Given the description of an element on the screen output the (x, y) to click on. 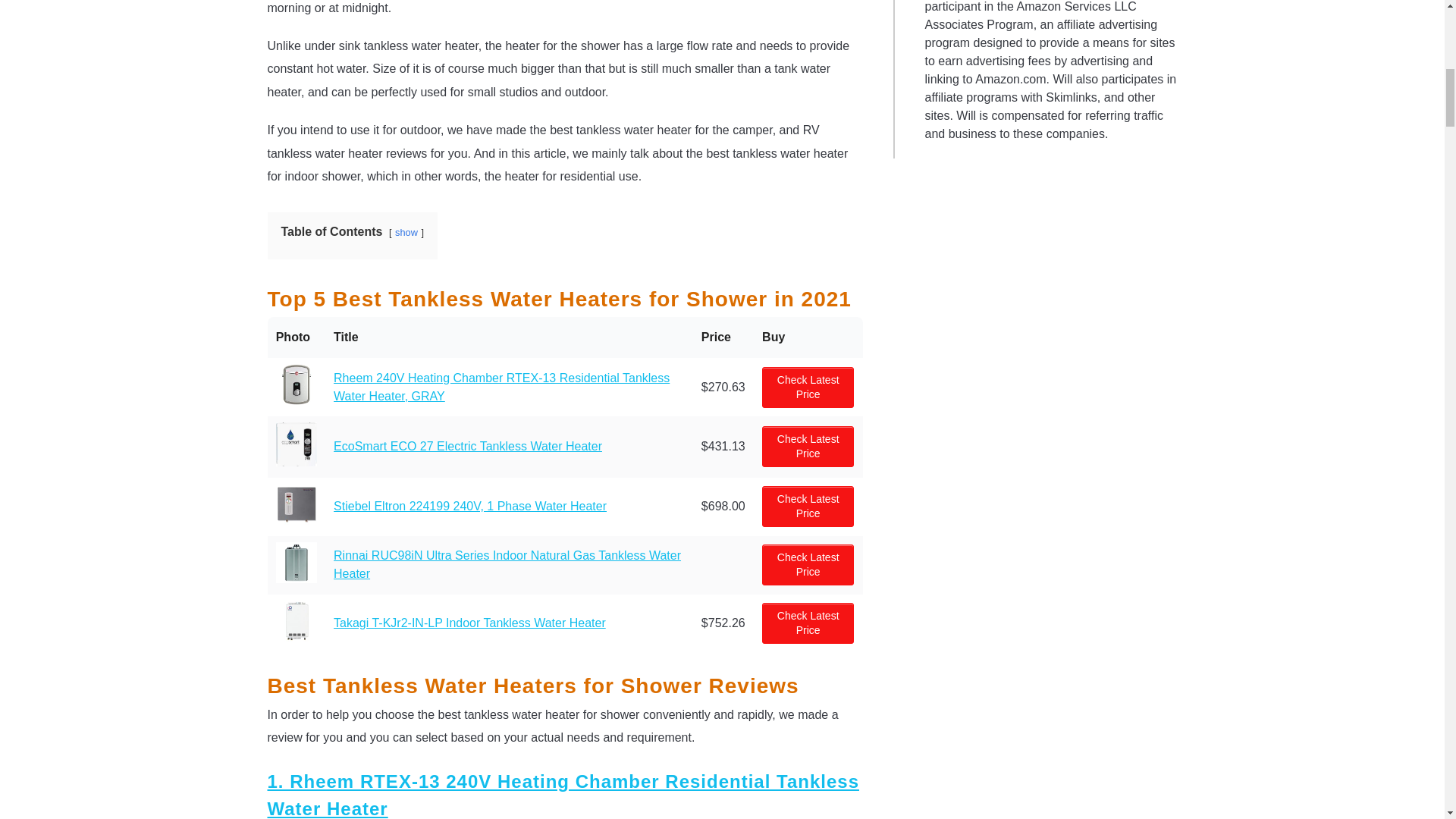
show (405, 232)
Takagi T-KJr2-IN-LP Indoor Tankless Water Heater (469, 622)
